Given the description of an element on the screen output the (x, y) to click on. 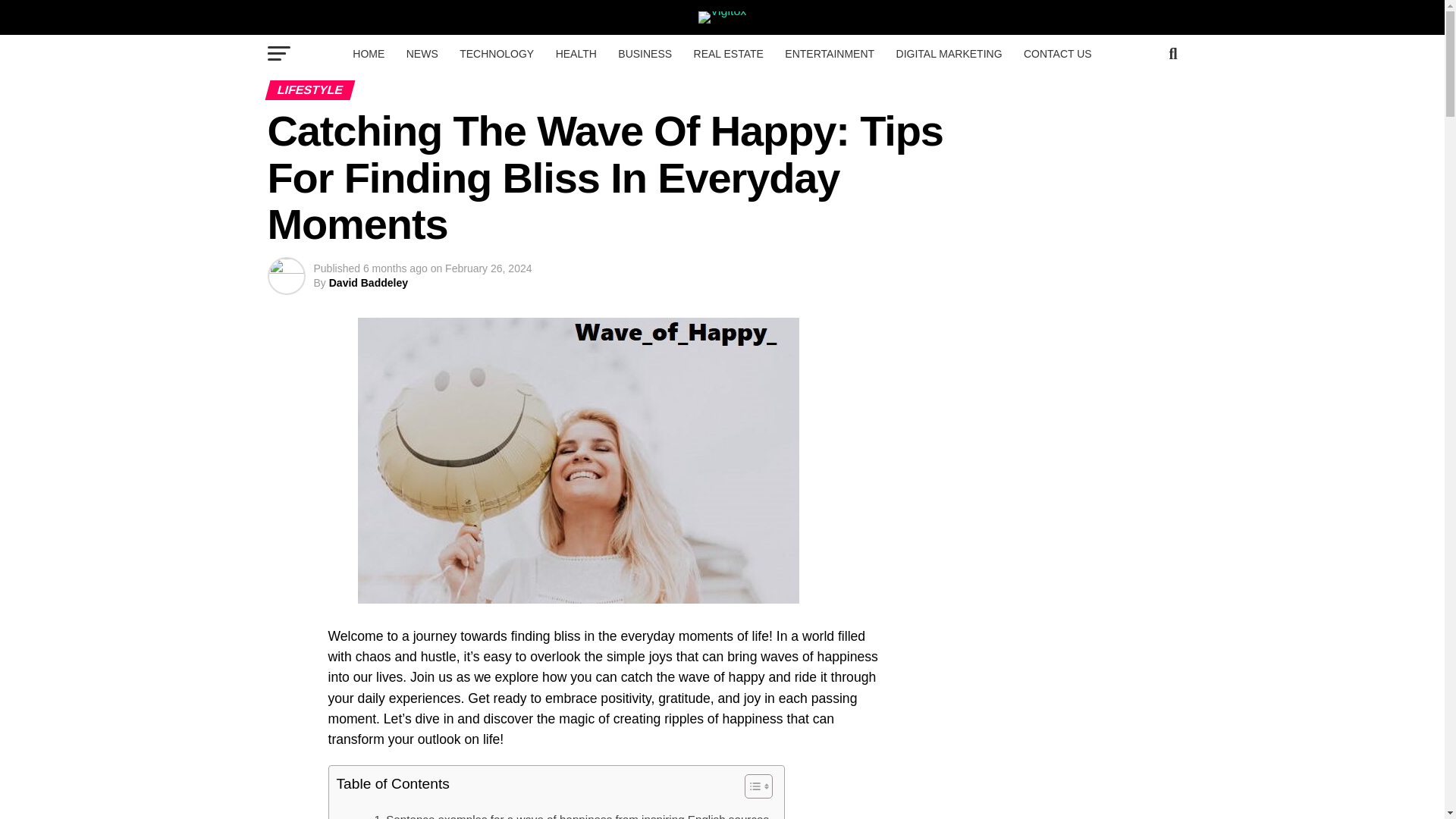
TECHNOLOGY (496, 53)
HEALTH (576, 53)
ENTERTAINMENT (829, 53)
REAL ESTATE (728, 53)
HOME (368, 53)
Posts by David Baddeley (368, 282)
NEWS (421, 53)
BUSINESS (644, 53)
